Given the description of an element on the screen output the (x, y) to click on. 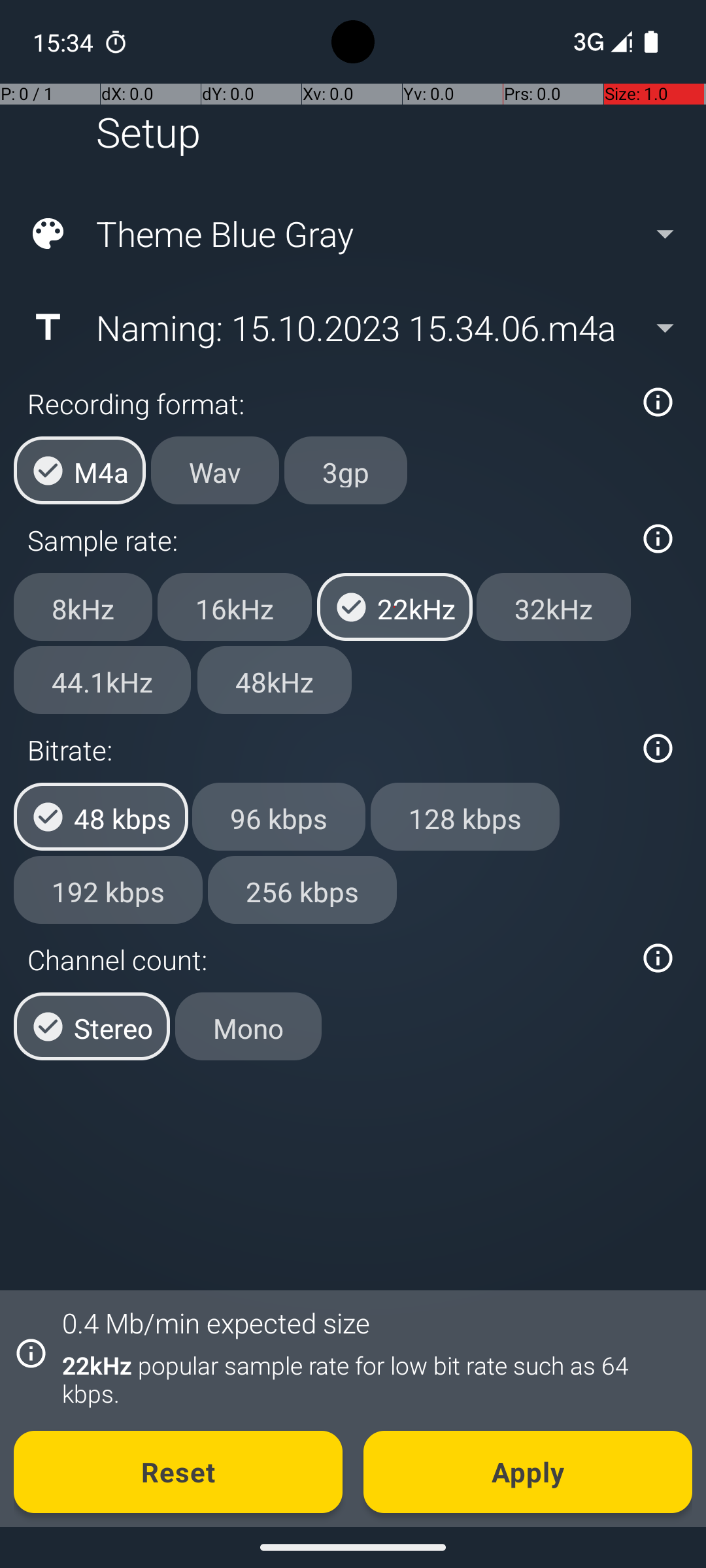
0.4 Mb/min expected size Element type: android.widget.TextView (215, 1322)
22kHz popular sample rate for low bit rate such as 64 kbps. Element type: android.widget.TextView (370, 1378)
Naming: 15.10.2023 15.34.06.m4a Element type: android.widget.TextView (352, 327)
